Given the description of an element on the screen output the (x, y) to click on. 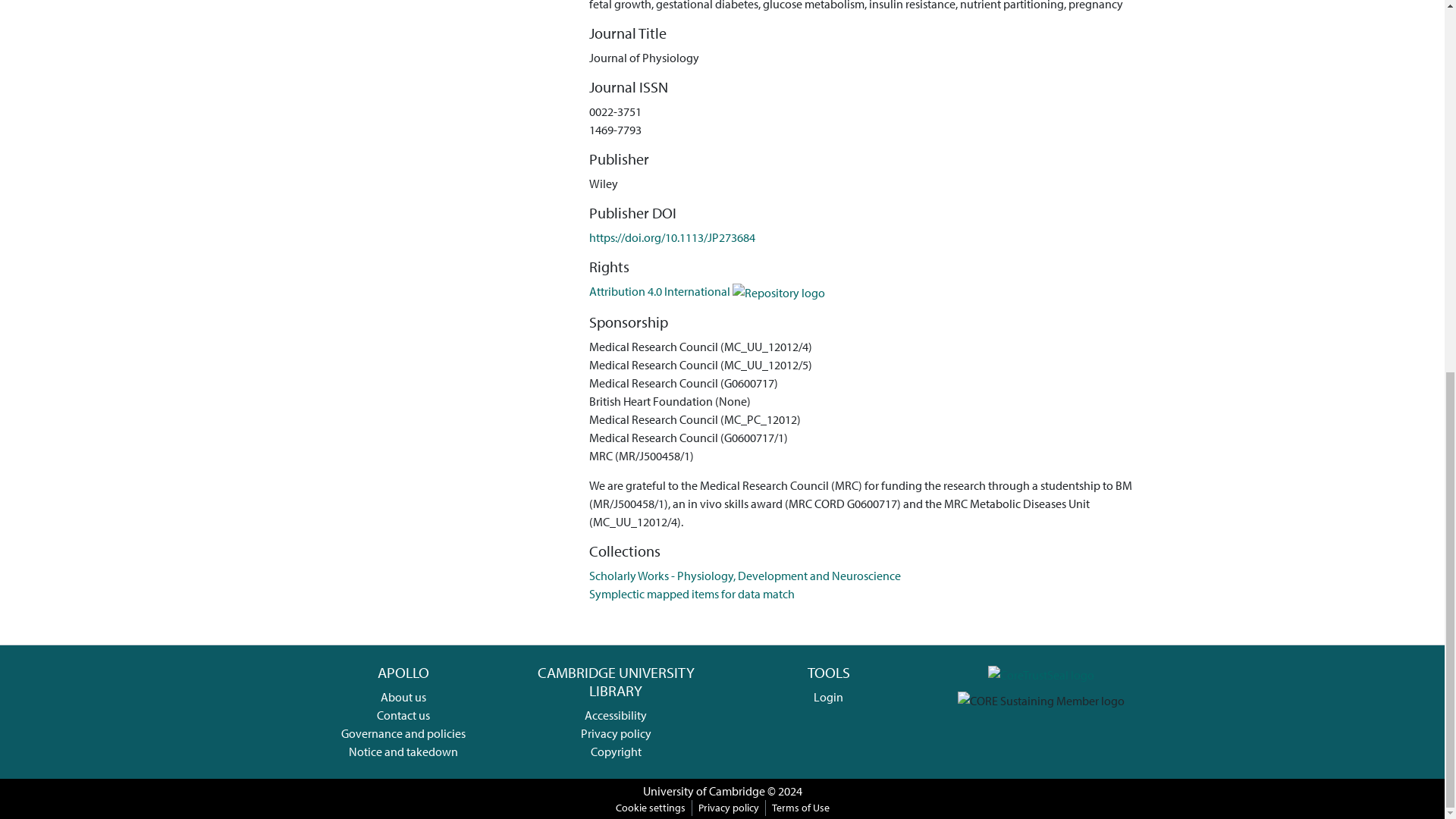
Symplectic mapped items for data match (691, 593)
Notice and takedown (403, 751)
Contact us (403, 714)
Apollo CTS full application (1041, 672)
Accessibility (615, 714)
Attribution 4.0 International (707, 290)
Governance and policies (402, 733)
About us (403, 696)
Scholarly Works - Physiology, Development and Neuroscience (745, 575)
